Given the description of an element on the screen output the (x, y) to click on. 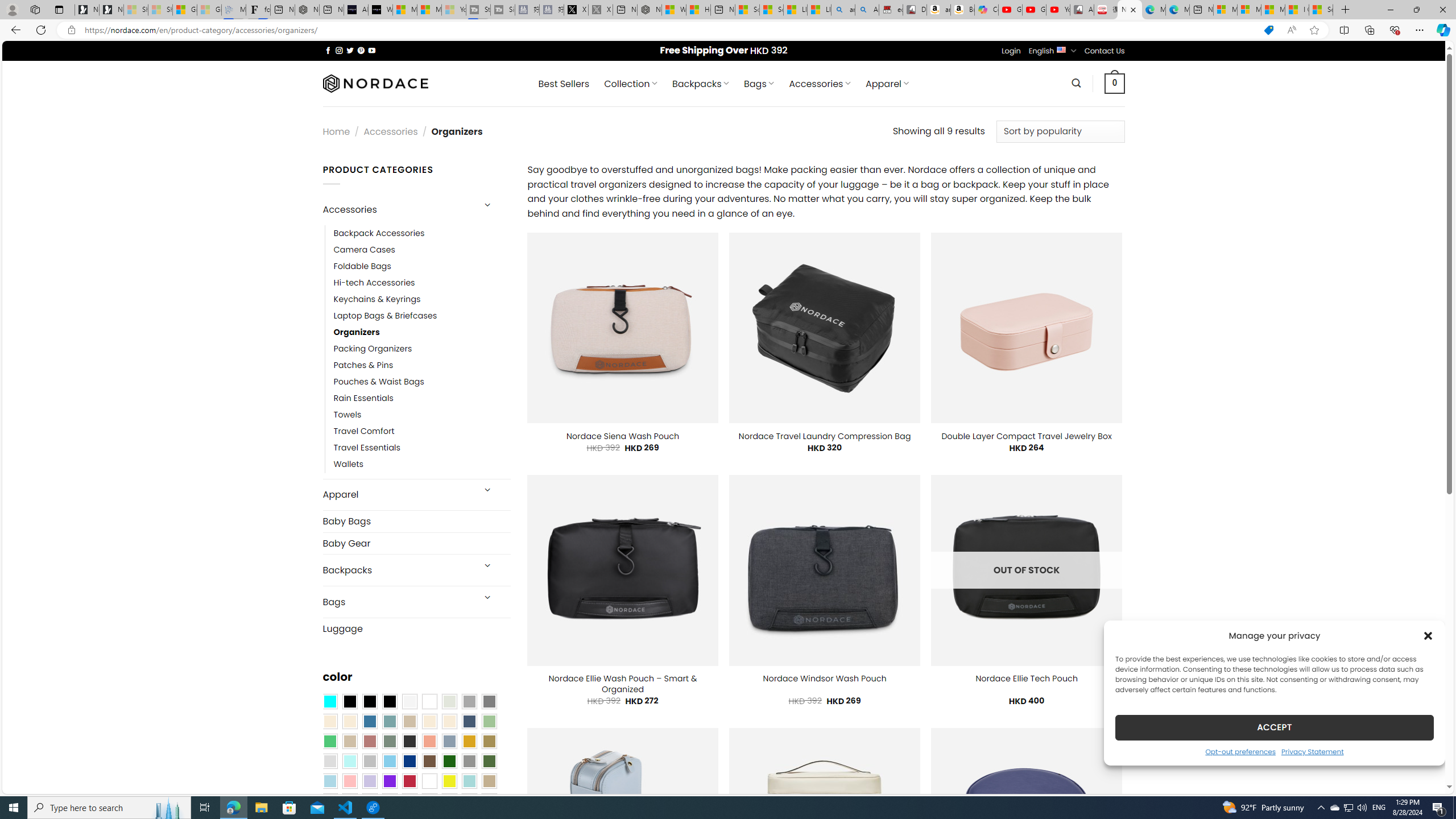
Keychains & Keyrings (376, 298)
Hi-tech Accessories (422, 282)
Follow on Pinterest (360, 49)
Kelp (488, 741)
Dark Gray (468, 701)
Nordace Travel Laundry Compression Bag (824, 436)
Purple (389, 780)
Travel Essentials (366, 448)
Home (335, 131)
Follow on Twitter (349, 49)
Add this page to favorites (Ctrl+D) (1314, 29)
Browser essentials (1394, 29)
Towels (347, 415)
Green (488, 761)
Coral (429, 741)
